Given the description of an element on the screen output the (x, y) to click on. 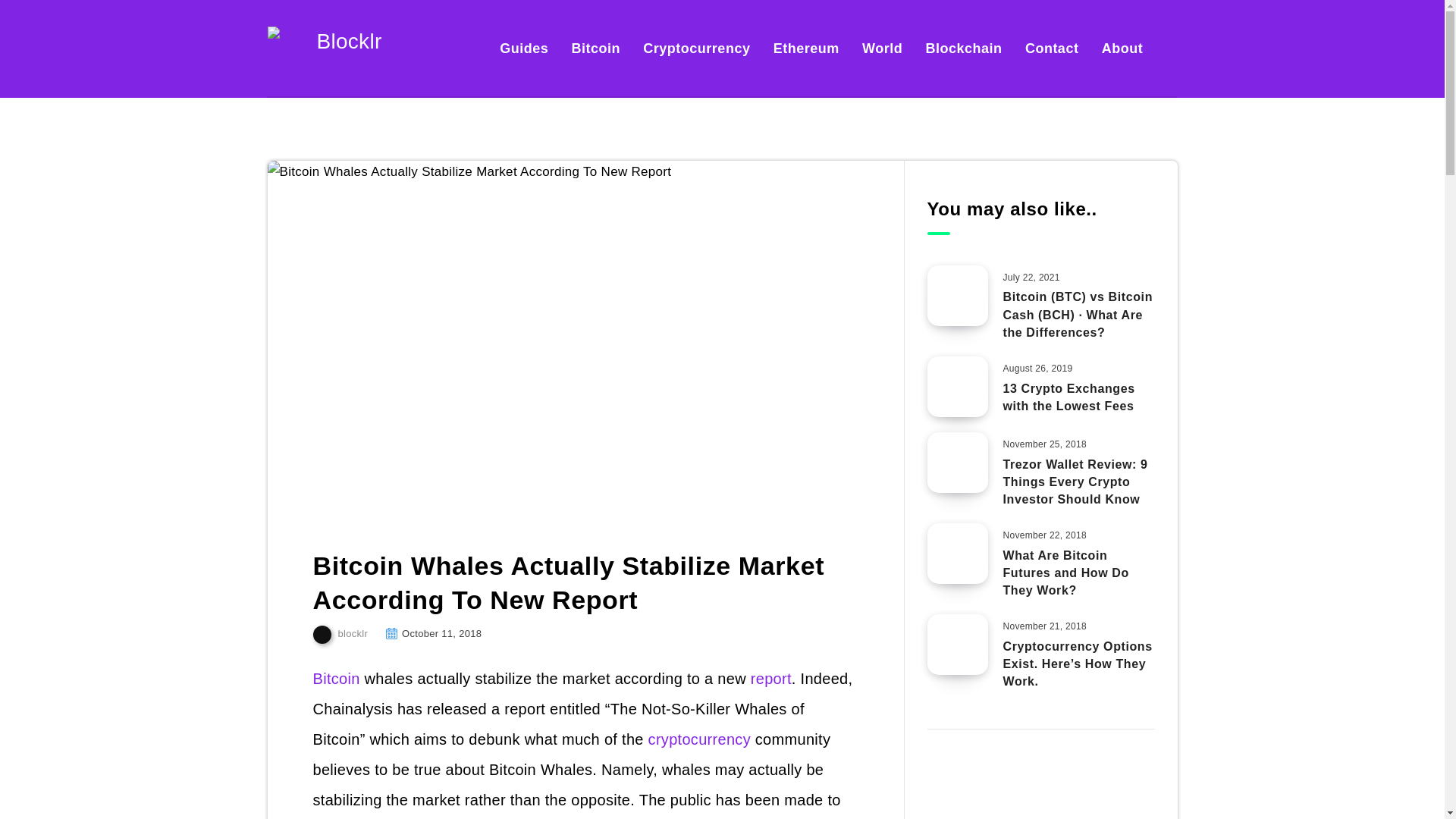
Cryptocurrency (696, 48)
Home (280, 129)
World (881, 48)
Blockchain (964, 48)
blocklr (340, 634)
report (771, 678)
Guides (523, 48)
About (1122, 48)
Bitcoin (324, 129)
